Given the description of an element on the screen output the (x, y) to click on. 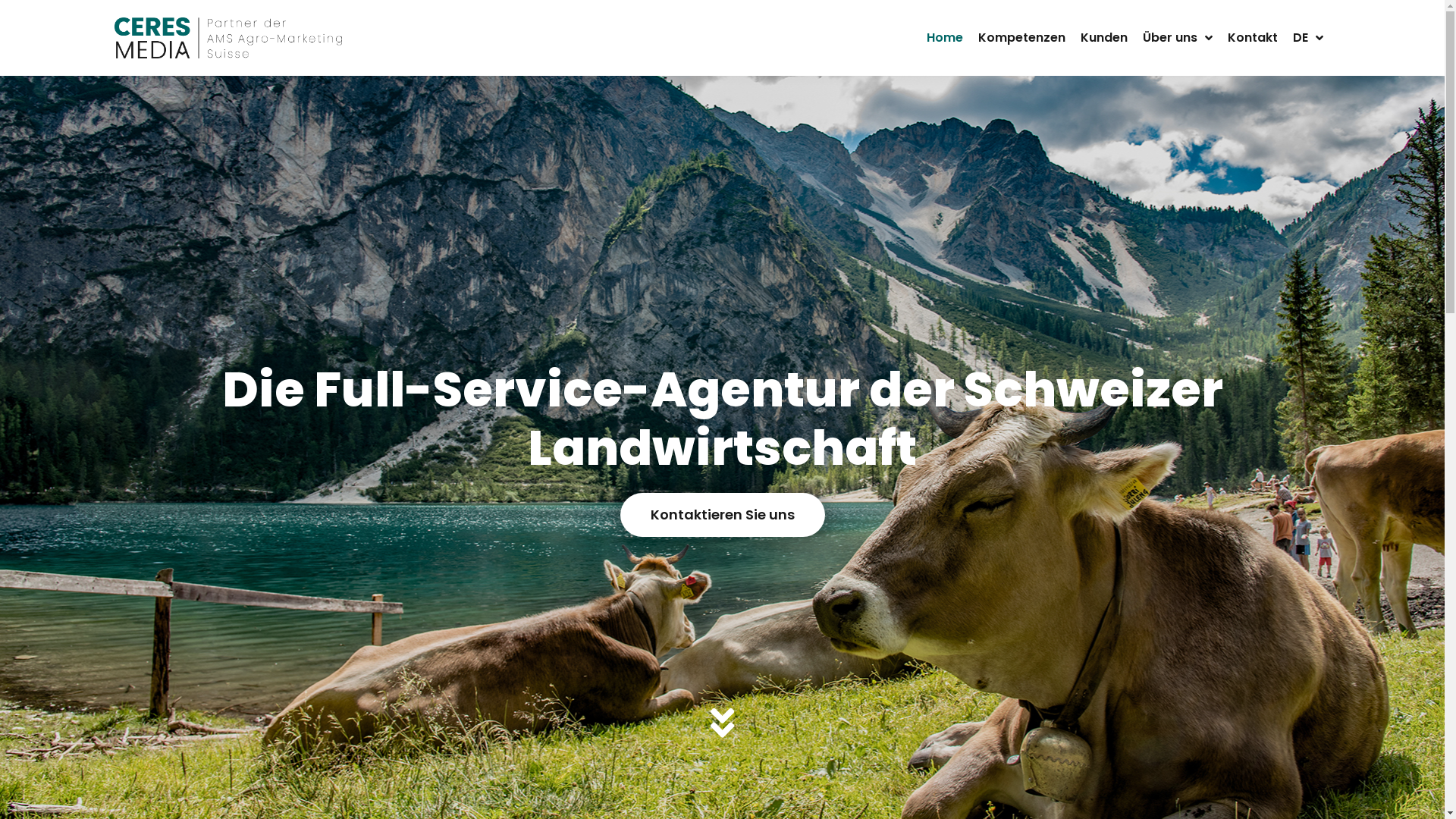
Kontaktieren Sie uns Element type: text (722, 514)
Home Element type: text (944, 37)
Kunden Element type: text (1104, 37)
DE Element type: text (1307, 37)
Kompetenzen Element type: text (1021, 37)
Kontakt Element type: text (1252, 37)
